Given the description of an element on the screen output the (x, y) to click on. 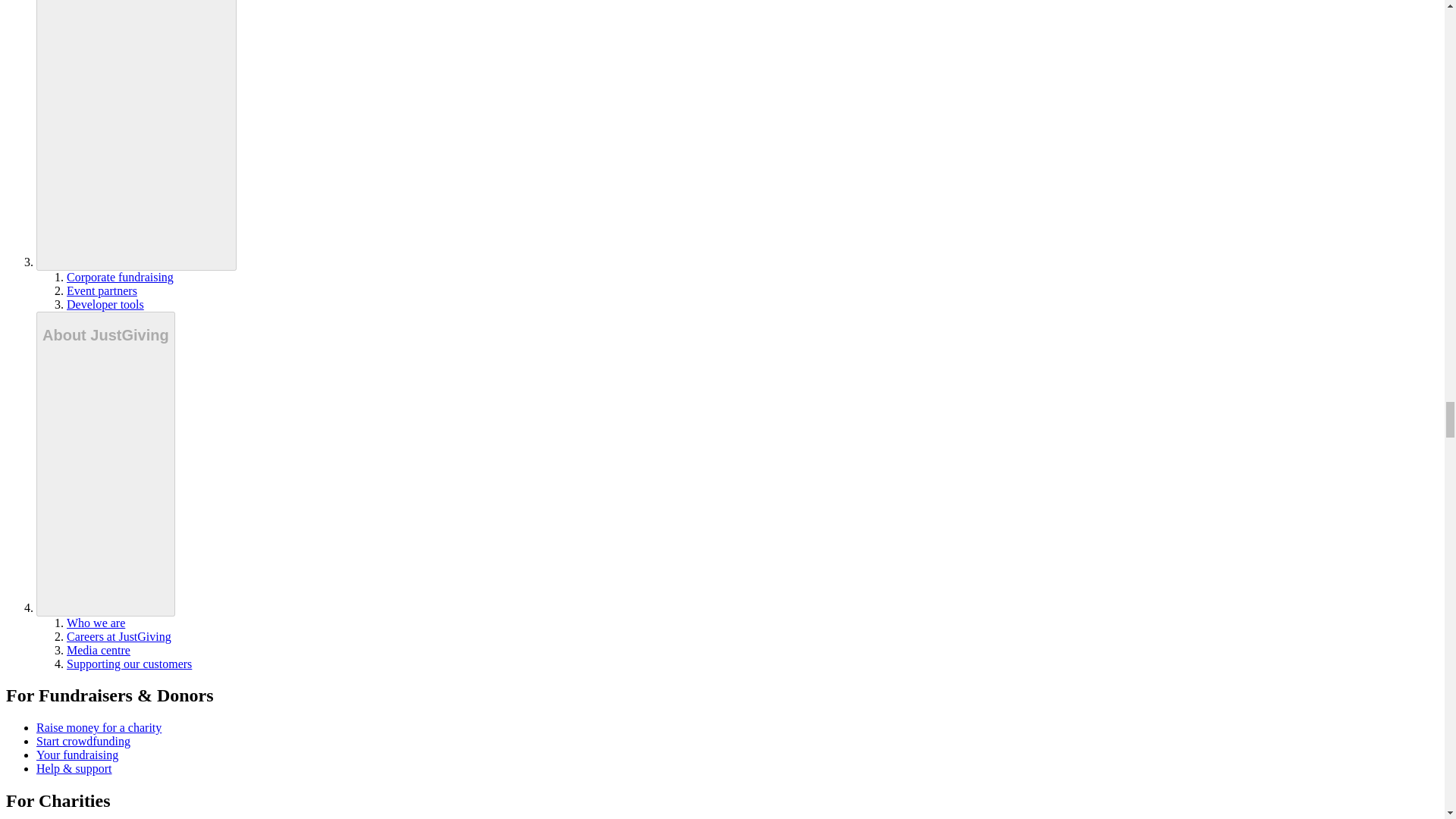
Developer tools (105, 304)
Corporate fundraising (119, 277)
Event partners (101, 290)
